Given the description of an element on the screen output the (x, y) to click on. 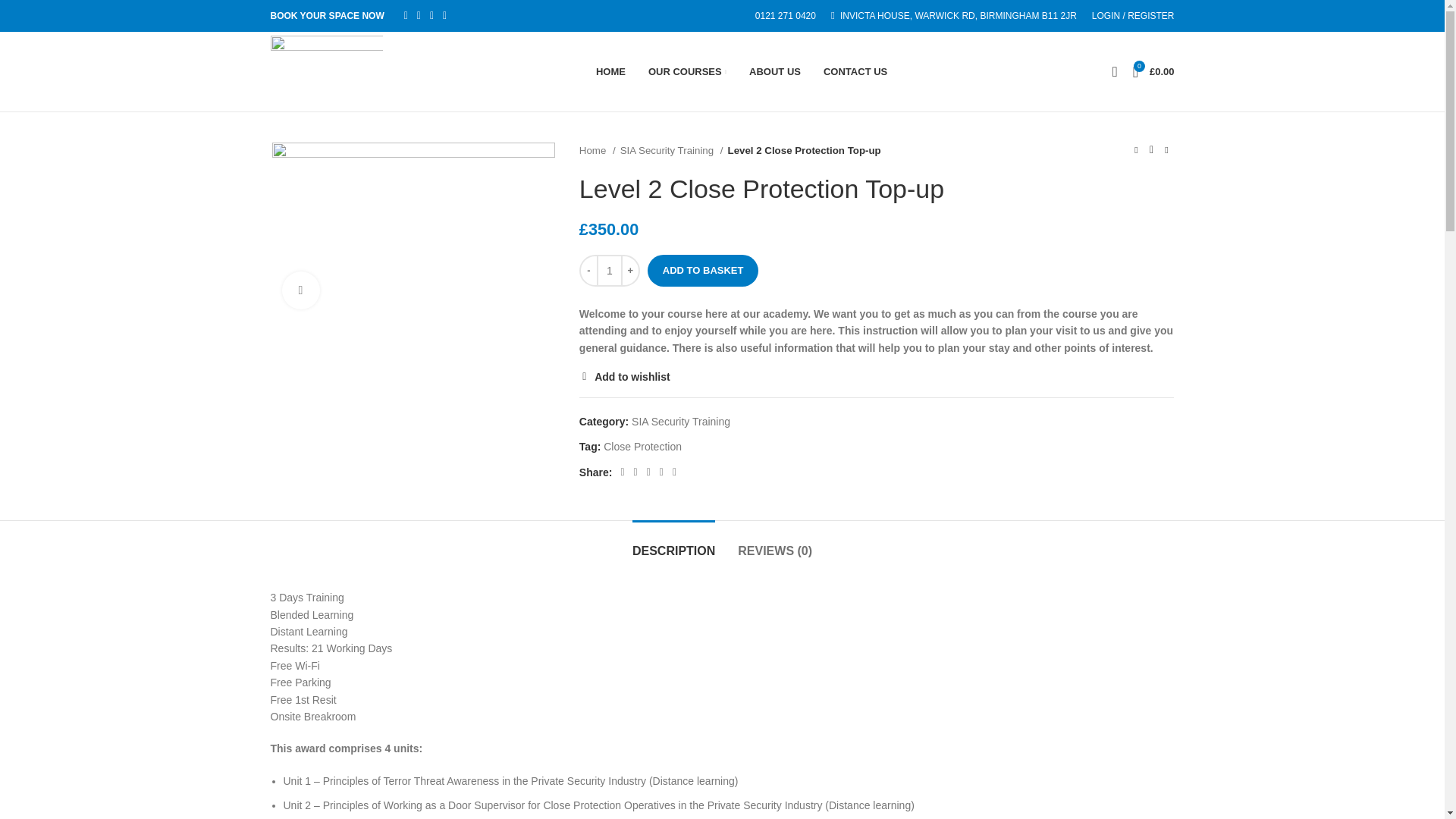
My account (1133, 15)
CONTACT US (855, 71)
INVICTA HOUSE, WARWICK RD, BIRMINGHAM B11 2JR (954, 15)
ADD TO BASKET (702, 270)
SIA Security Training (671, 150)
HOME (611, 71)
ABOUT US (775, 71)
Add to wishlist (624, 376)
0121 271 0420 (783, 15)
OUR COURSES (687, 71)
Shopping cart (1153, 71)
Home (597, 150)
